Given the description of an element on the screen output the (x, y) to click on. 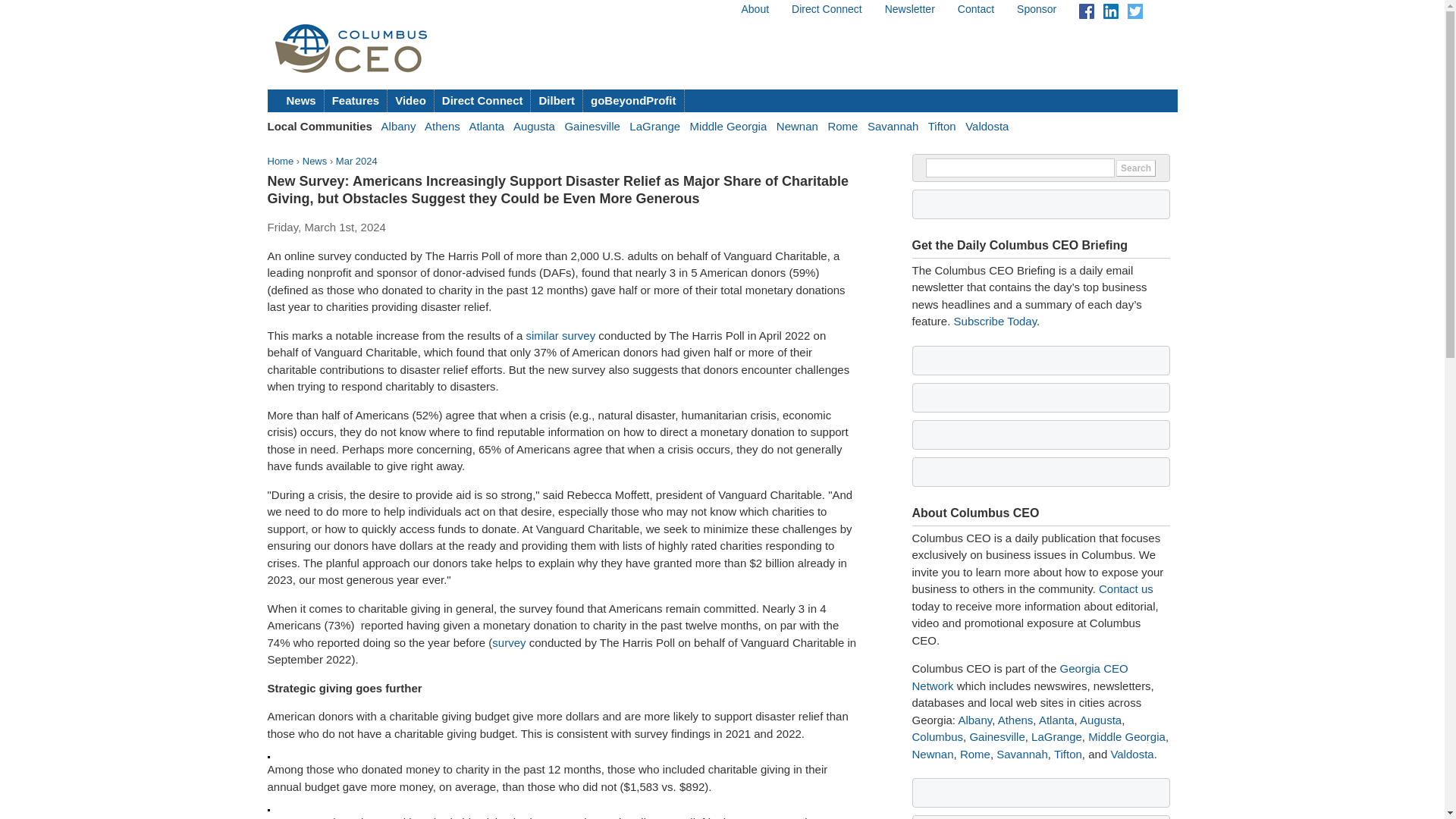
Gainesville (592, 125)
survey (508, 642)
Direct Connect (826, 9)
Contact (976, 9)
Valdosta (987, 125)
Newnan (797, 125)
Features (356, 100)
Rome (842, 125)
Video (410, 100)
goBeyondProfit (633, 100)
